Given the description of an element on the screen output the (x, y) to click on. 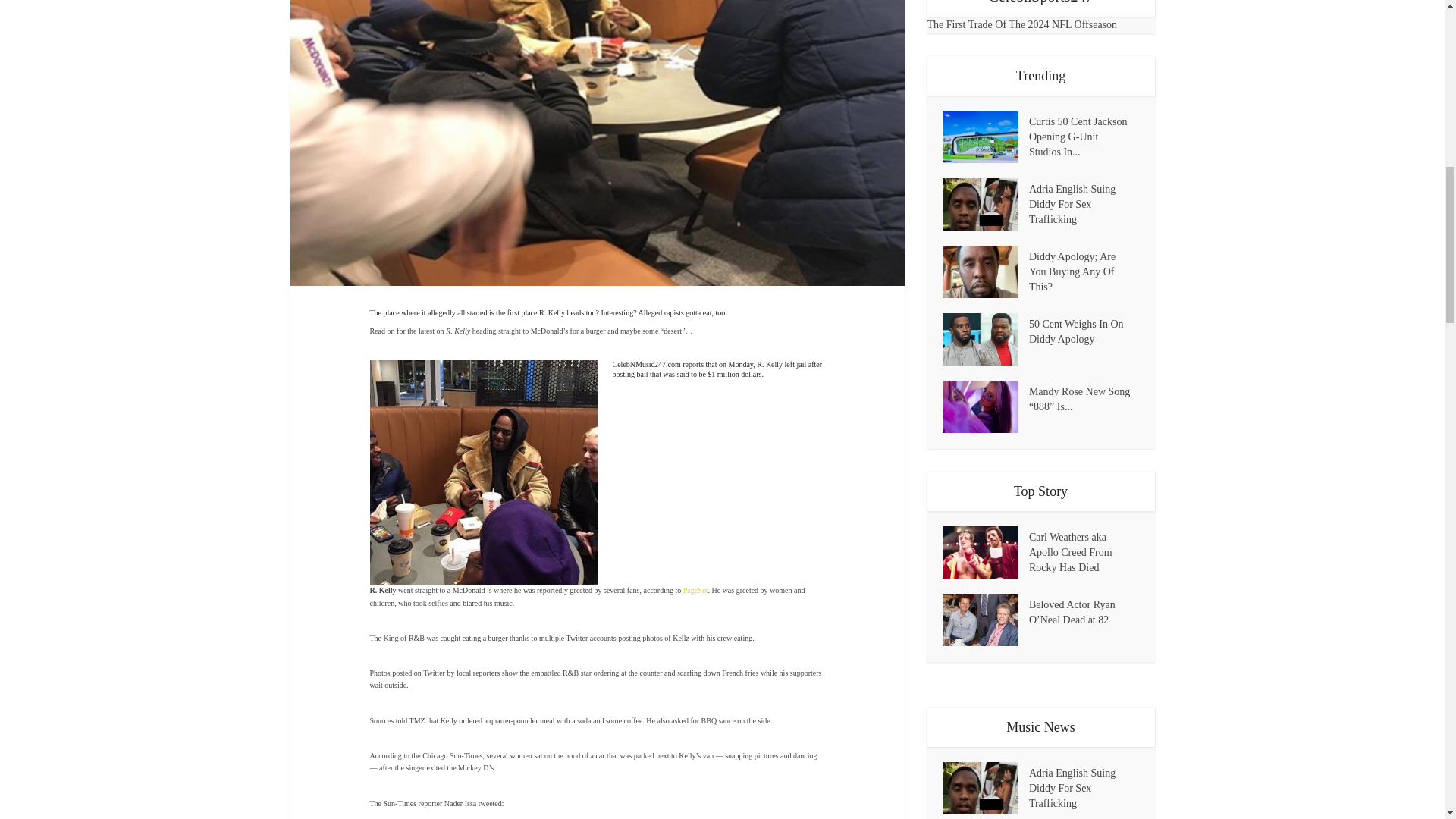
Curtis 50 Cent Jackson Opening G-Unit Studios In Shreveport (984, 136)
Curtis 50 Cent Jackson Opening G-Unit Studios In Shreveport (1084, 134)
PageSix (694, 590)
